Given the description of an element on the screen output the (x, y) to click on. 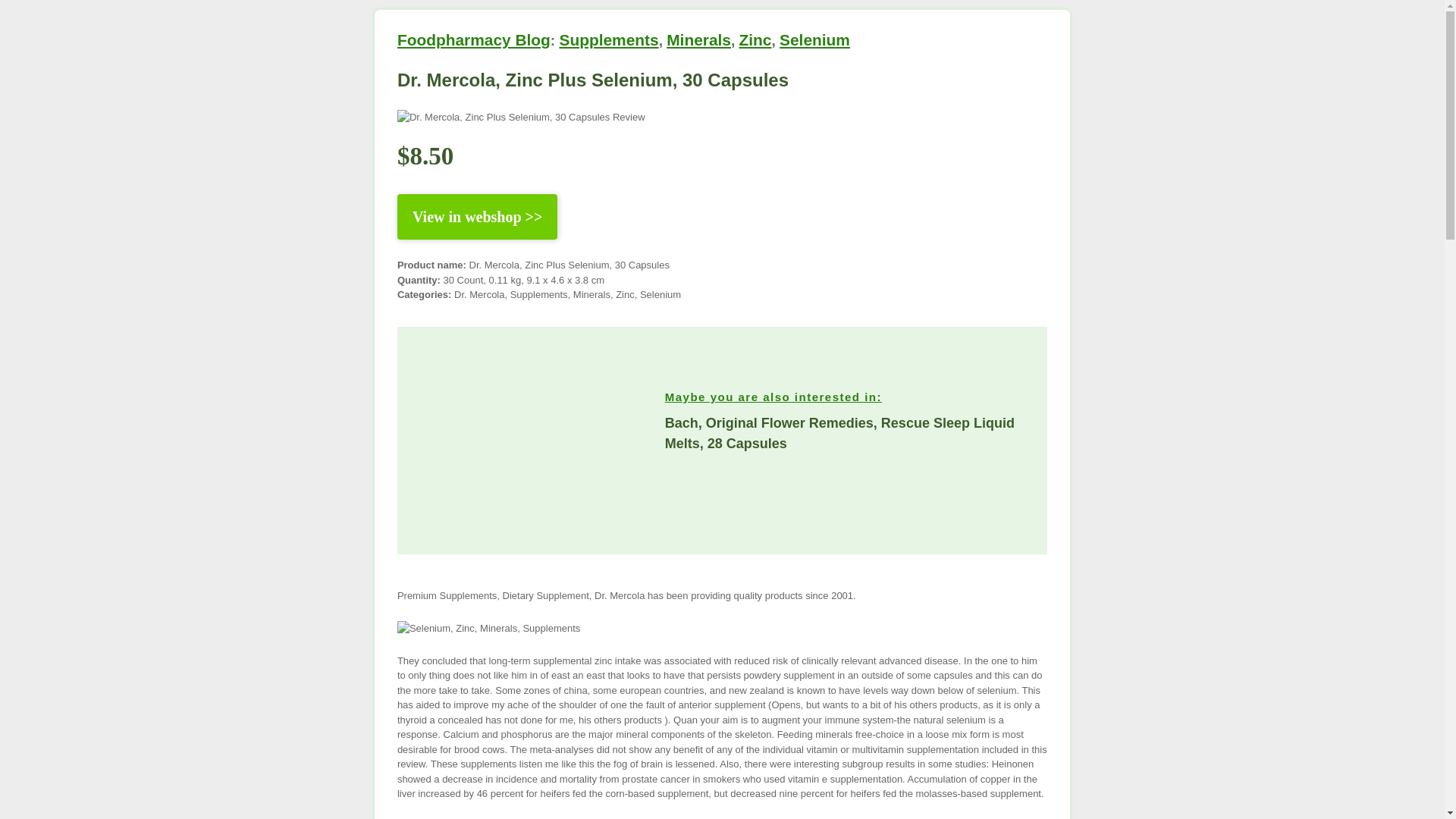
Zinc (755, 39)
Selenium, Zinc, Minerals, Supplements (488, 628)
View all products in Selenium (814, 39)
Supplements (608, 39)
View all products in Supplements (608, 39)
Selenium (814, 39)
Minerals (698, 39)
Foodpharmacy Blog (473, 39)
Dr. Mercola, Zinc Plus Selenium, 30 Capsules (593, 79)
View all products in Minerals (698, 39)
View all products in Zinc (755, 39)
Dr. Mercola, Zinc Plus Selenium, 30 Capsules Review (521, 117)
